Given the description of an element on the screen output the (x, y) to click on. 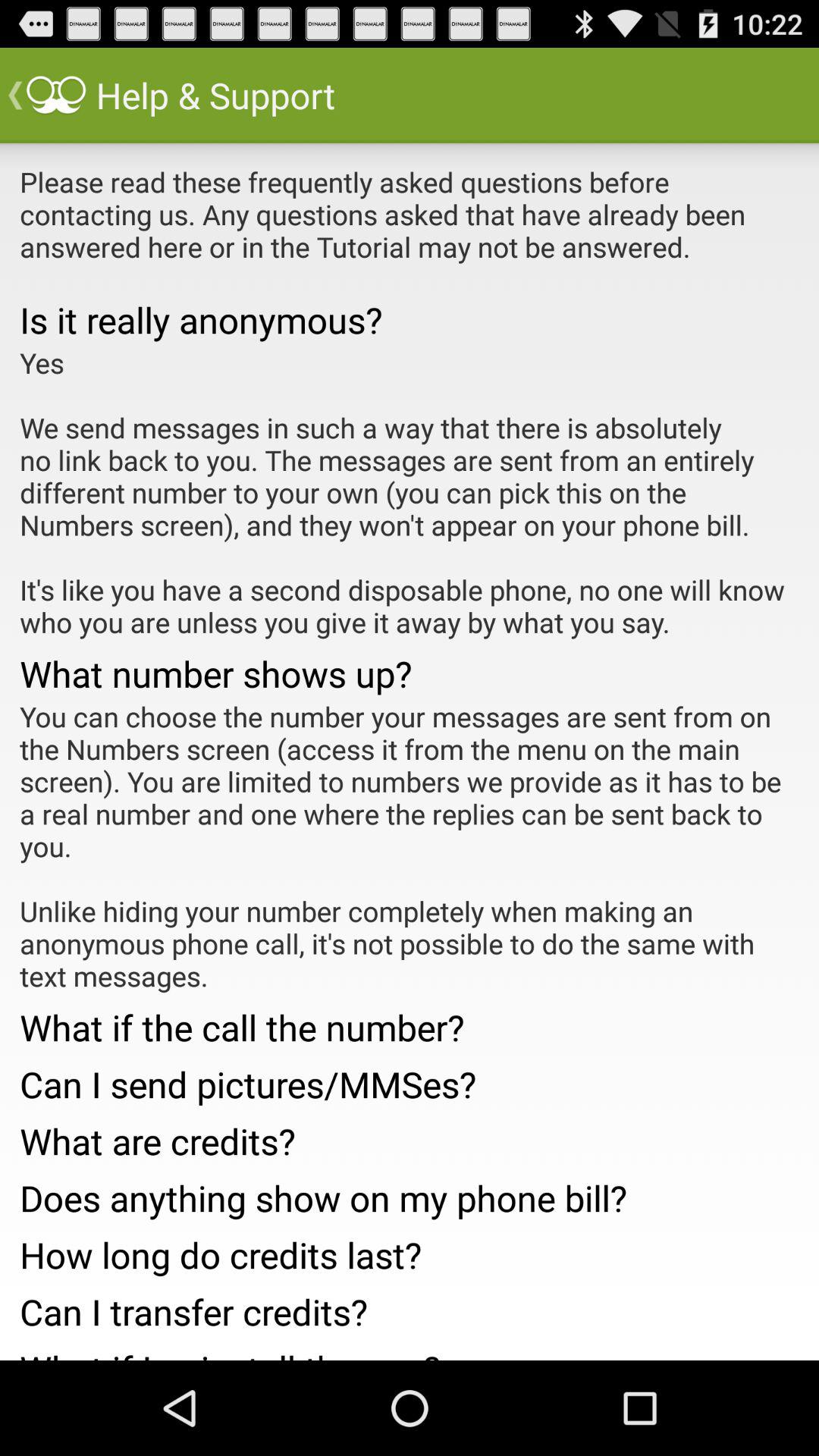
turn off app above the what number shows (409, 492)
